Given the description of an element on the screen output the (x, y) to click on. 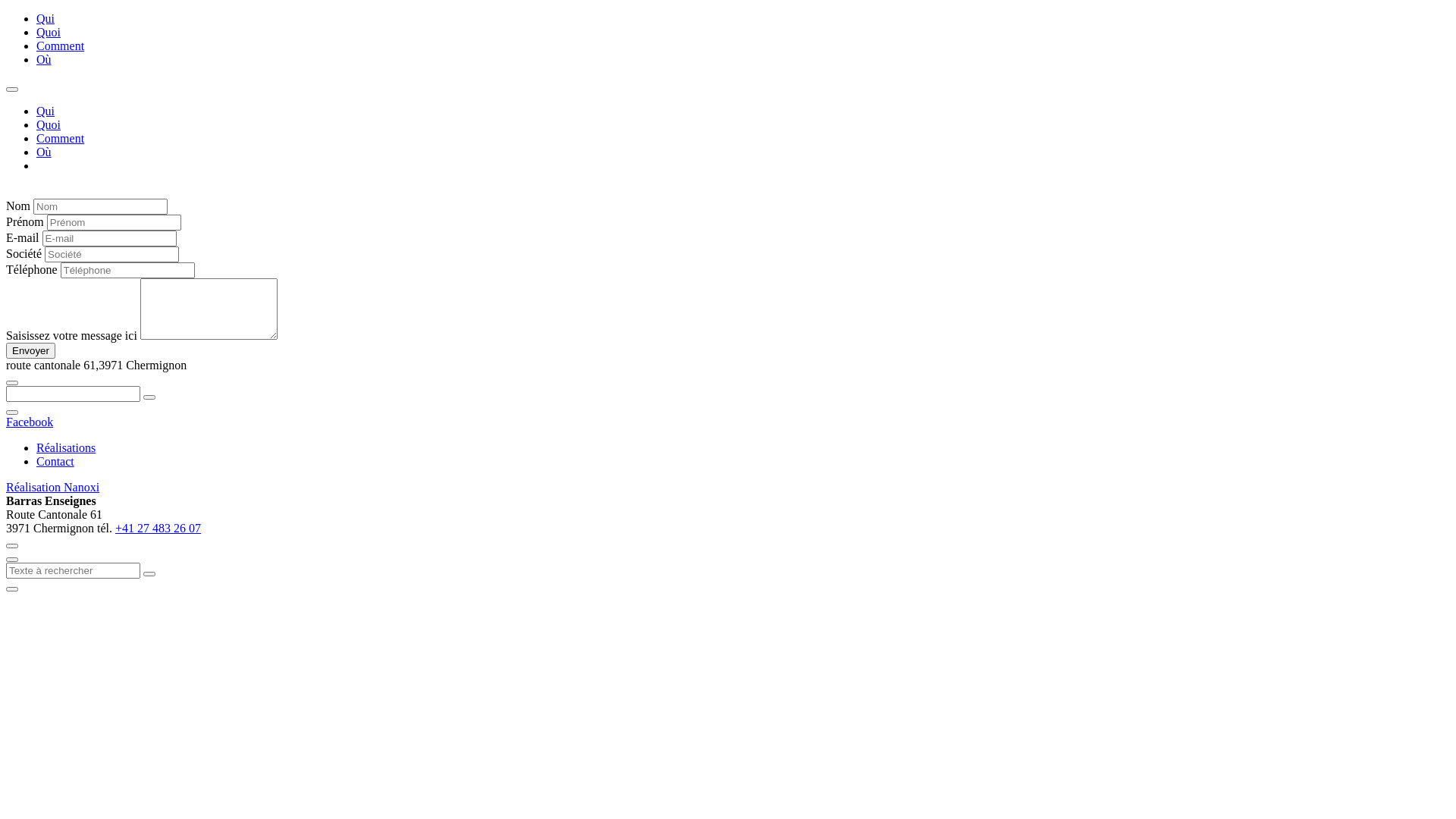
Qui Element type: text (45, 18)
Quoi Element type: text (48, 124)
Search Element type: hover (149, 573)
Qui Element type: text (45, 110)
fermer Element type: hover (12, 559)
Comment Element type: text (60, 45)
Envoyer Element type: text (30, 350)
fermer Element type: hover (12, 545)
fermer Element type: hover (12, 412)
Contact Element type: text (55, 461)
Facebook Element type: text (29, 421)
+41 27 483 26 07 Element type: text (157, 527)
Quoi Element type: text (48, 31)
Comment Element type: text (60, 137)
